Given the description of an element on the screen output the (x, y) to click on. 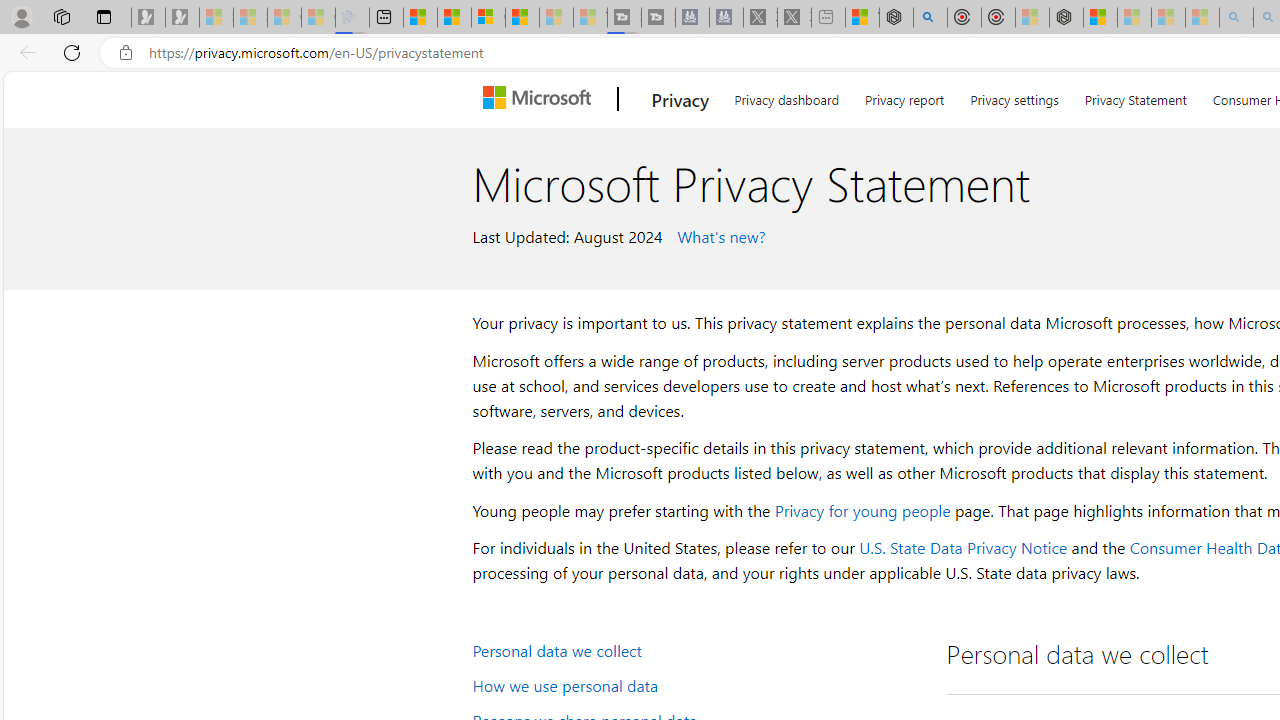
Privacy for young people (862, 509)
